Given the description of an element on the screen output the (x, y) to click on. 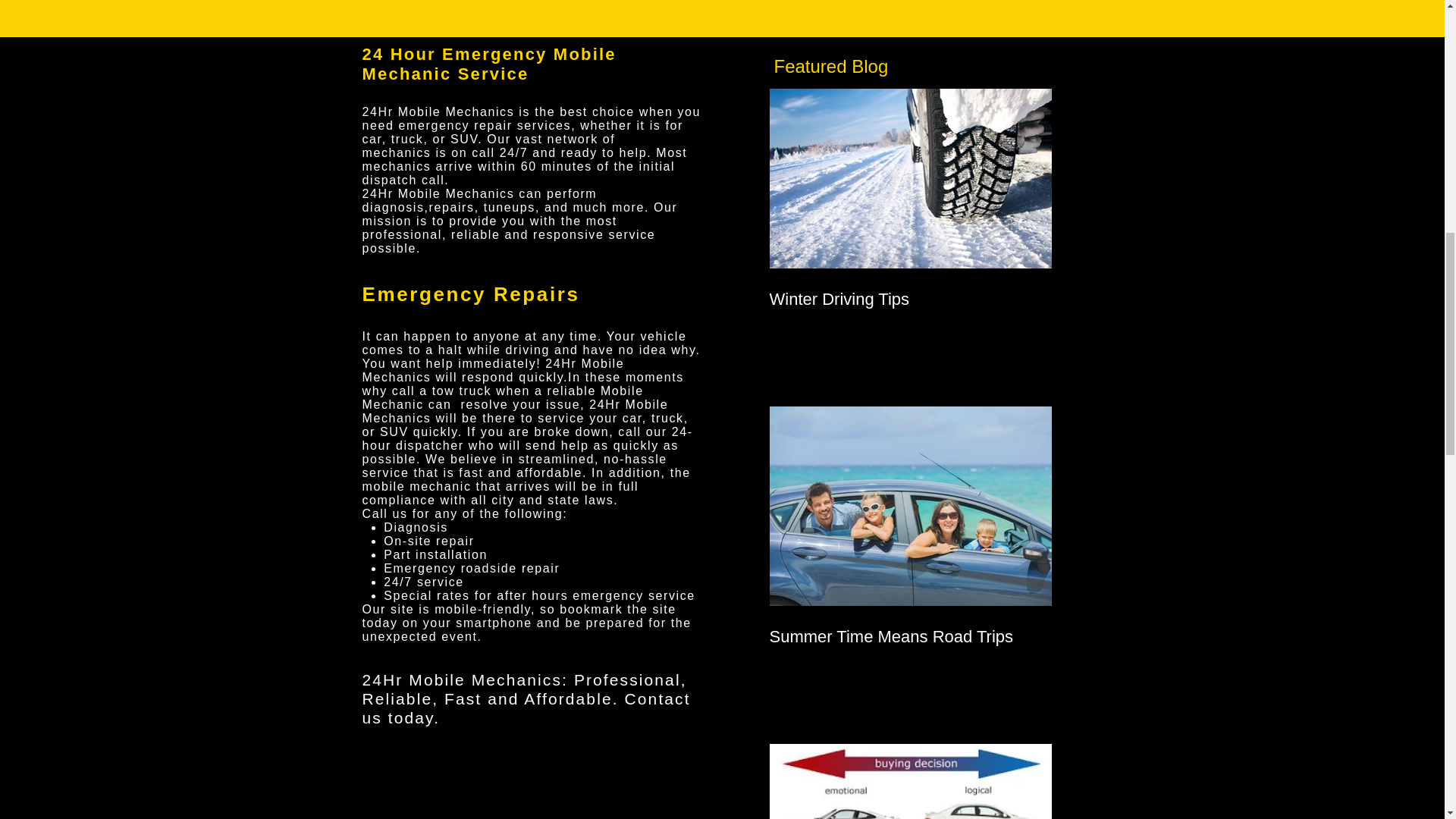
Diagnosis (416, 526)
Summer Time Means Road Trips (909, 637)
Winter Driving Tips (909, 299)
Emergency roadside repair (471, 567)
